Given the description of an element on the screen output the (x, y) to click on. 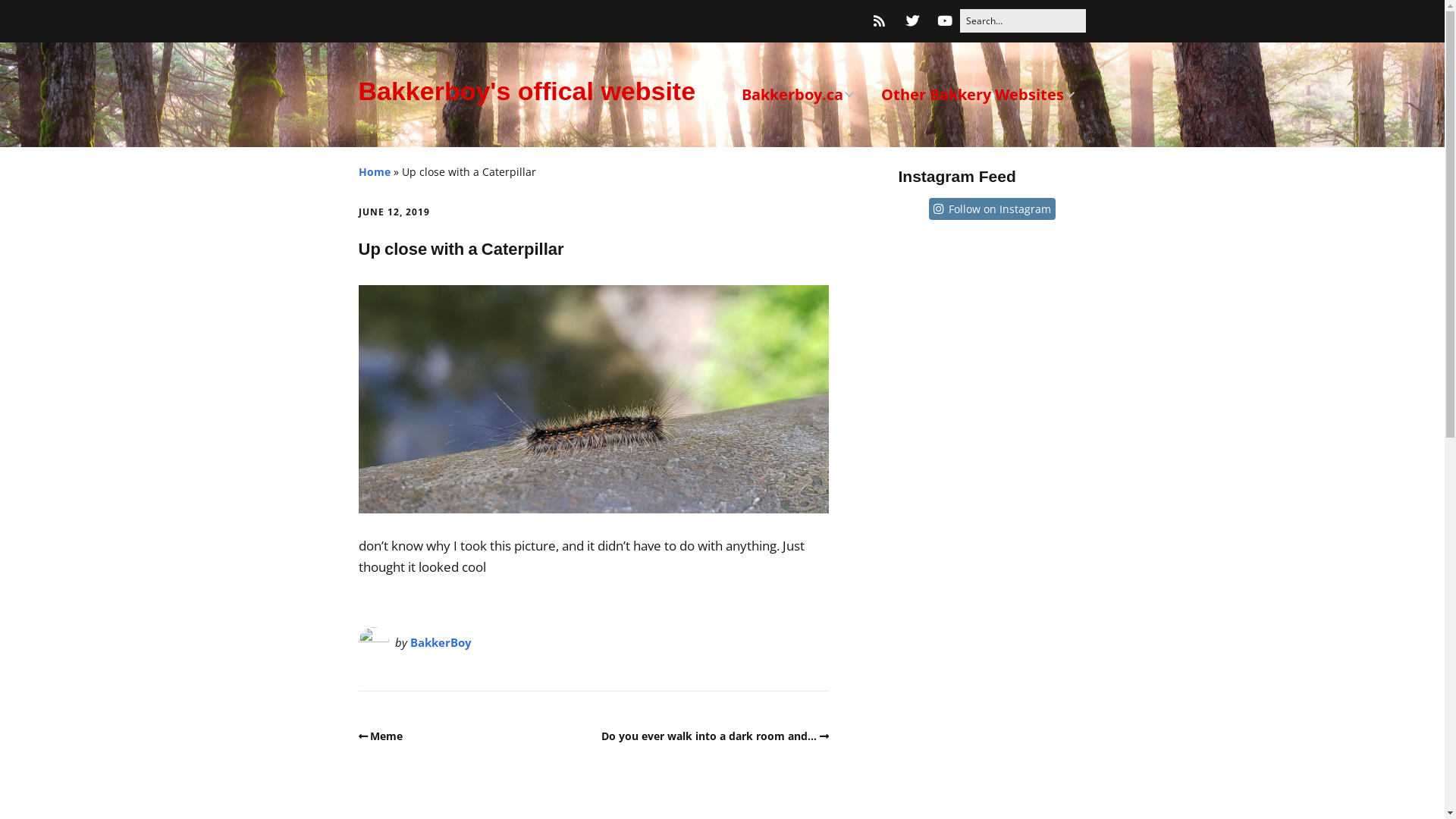
Advertisement Element type: hover (991, 523)
BakkerBoy Element type: text (439, 641)
Press Enter to submit your search Element type: hover (1021, 20)
Search Element type: text (29, 16)
Home Element type: text (373, 171)
Bakkerboy's offical website Element type: text (526, 90)
Follow on Instagram Element type: text (999, 208)
Bakkerboy.ca Element type: text (797, 94)
Meme Element type: text (379, 735)
Other Bakkery Websites Element type: text (977, 94)
